Given the description of an element on the screen output the (x, y) to click on. 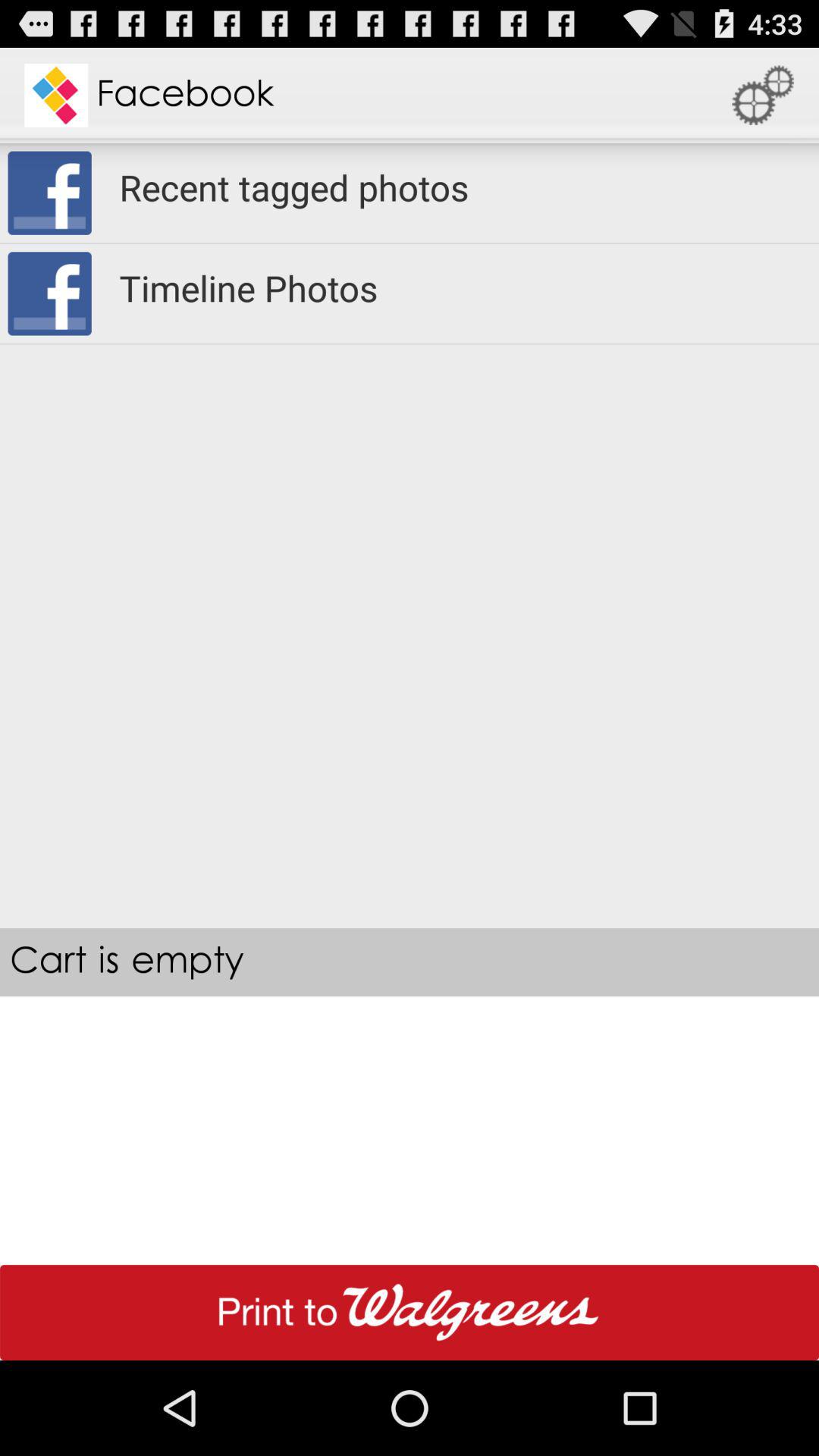
click the timeline photos (459, 287)
